Given the description of an element on the screen output the (x, y) to click on. 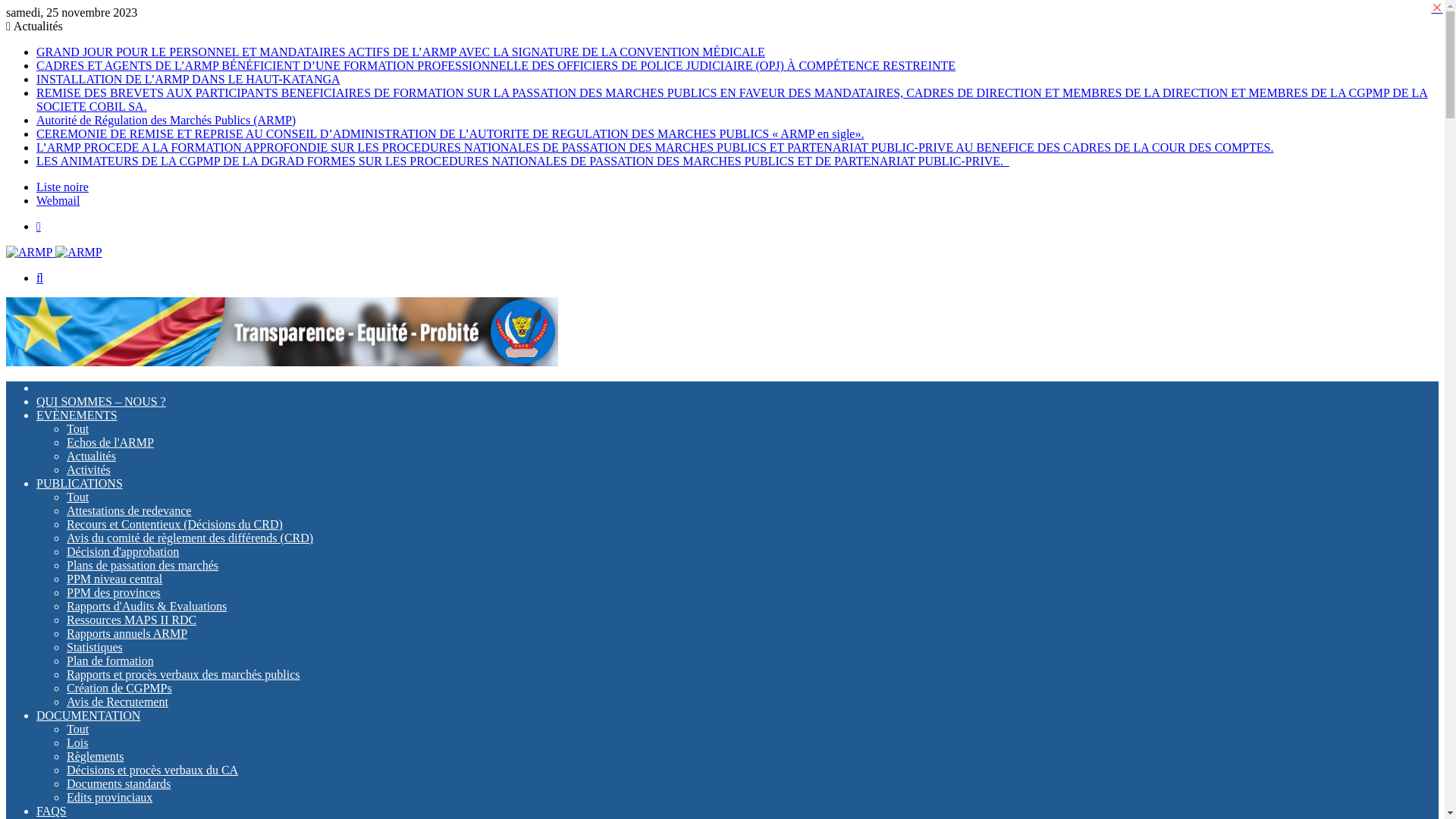
Fermer Element type: text (1436, 7)
Liste noire Element type: text (62, 186)
Avis de Recrutement Element type: text (117, 701)
Statistiques Element type: text (94, 646)
Edits provinciaux Element type: text (109, 796)
PUBLICATIONS Element type: text (79, 482)
Tout Element type: text (77, 428)
Menu Element type: text (38, 225)
Rapports annuels ARMP Element type: text (126, 633)
Lois Element type: text (76, 742)
PPM niveau central Element type: text (114, 578)
Webmail Element type: text (57, 200)
Documents standards Element type: text (118, 783)
Rapports d'Audits & Evaluations Element type: text (146, 605)
Ressources MAPS II RDC Element type: text (131, 619)
FAQS Element type: text (51, 810)
DOCUMENTATION Element type: text (88, 715)
Rechercher Element type: text (39, 277)
Plan de formation Element type: text (109, 660)
Echos de l'ARMP Element type: text (109, 442)
PPM des provinces Element type: text (113, 592)
ARMP Element type: hover (54, 251)
ARMP Element type: hover (282, 361)
Tout Element type: text (77, 496)
Attestations de redevance Element type: text (128, 510)
Tout Element type: text (77, 728)
